Given the description of an element on the screen output the (x, y) to click on. 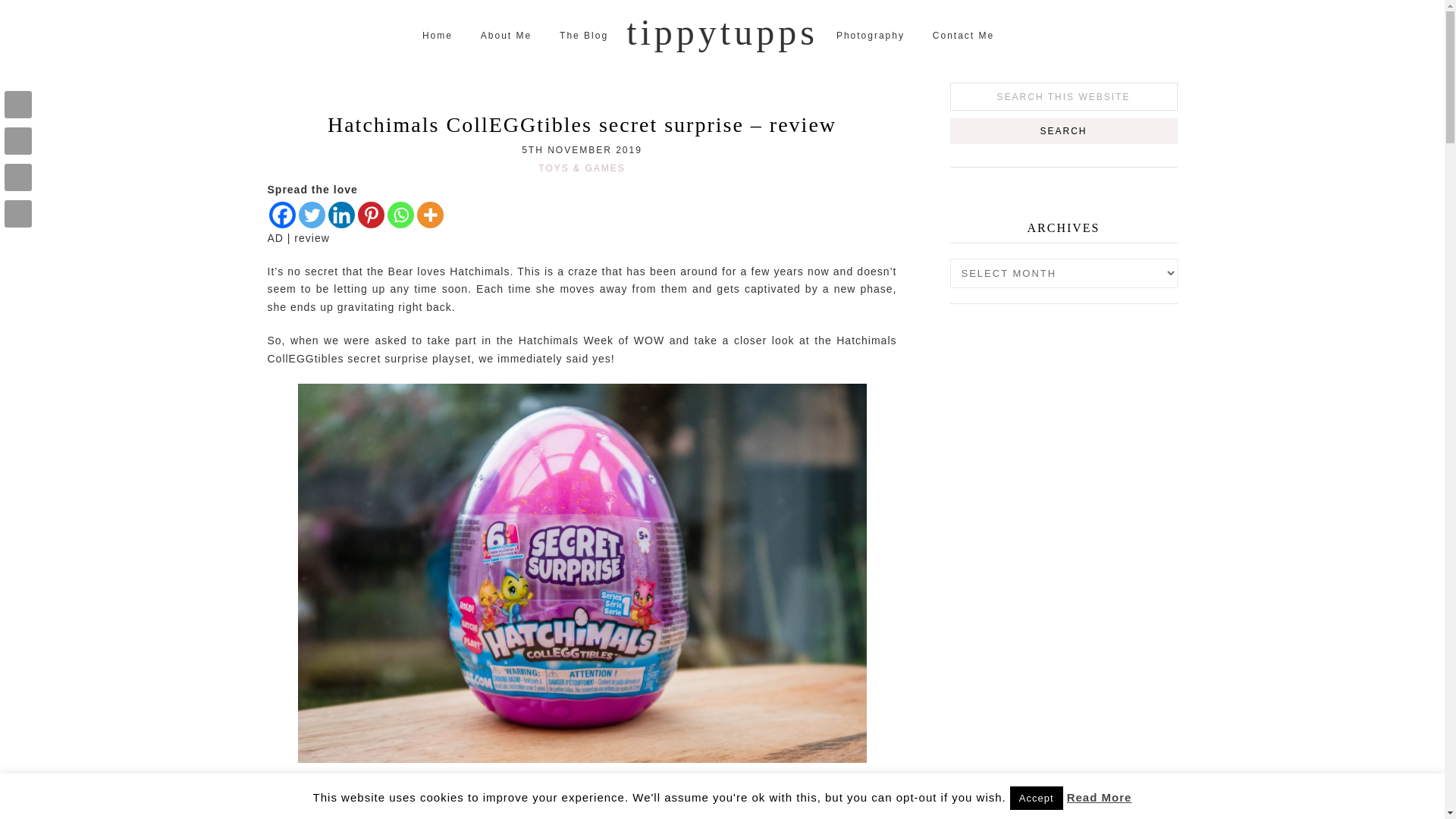
Whatsapp (400, 214)
Twitter (311, 214)
Search (1062, 130)
More (430, 214)
Pinterest (371, 214)
Facebook (281, 214)
tippytupps (722, 32)
Linkedin (340, 214)
Home (437, 35)
Contact Me (963, 35)
Photography (870, 35)
About Me (505, 35)
The Blog (583, 35)
Search (1062, 130)
